Given the description of an element on the screen output the (x, y) to click on. 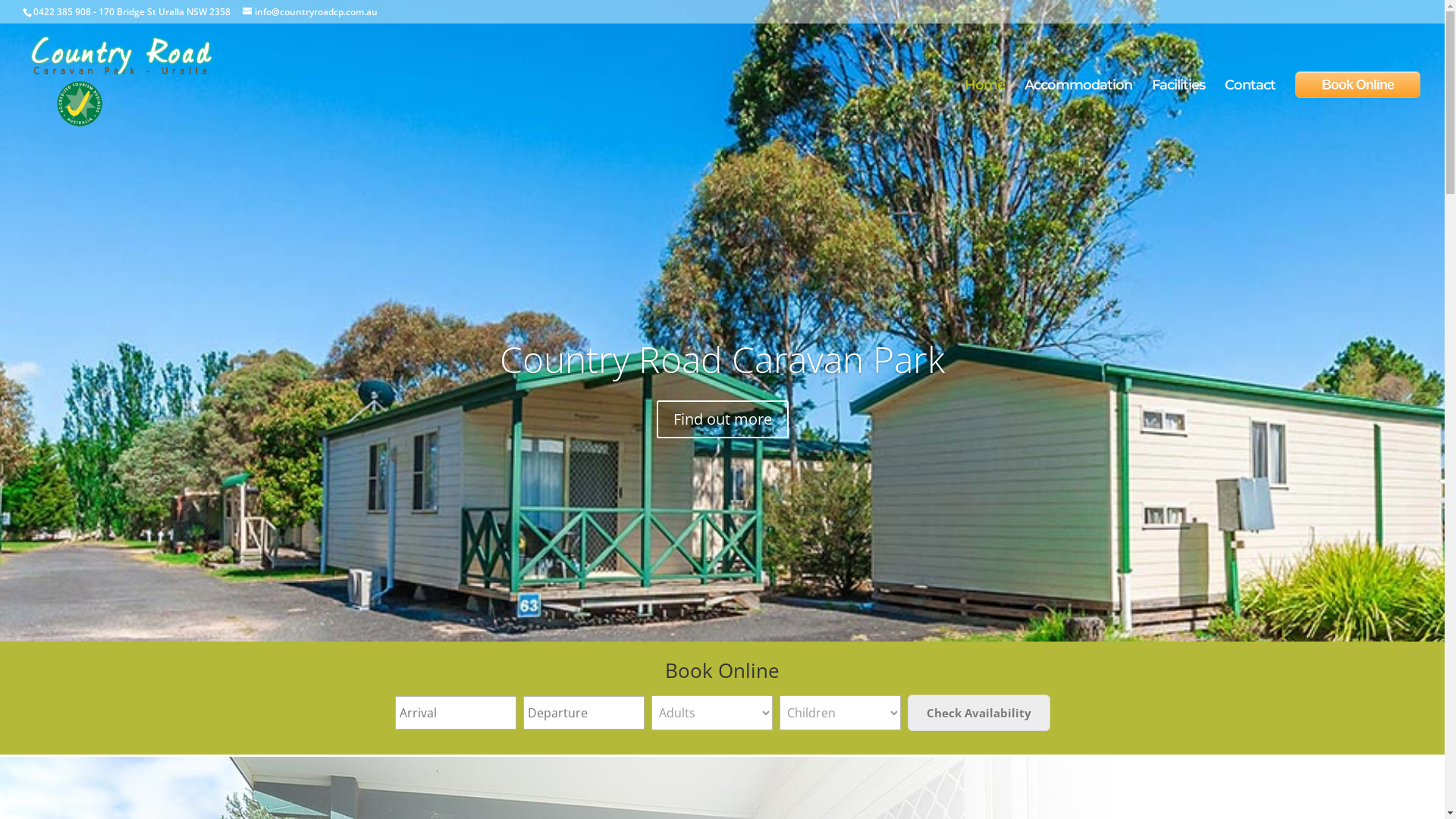
Home Element type: text (984, 108)
info@countryroadcp.com.au Element type: text (309, 11)
Book Online Element type: text (1357, 84)
Find out more Element type: text (722, 419)
Facilities Element type: text (1177, 108)
Accommodation Element type: text (1078, 108)
Contact Element type: text (1249, 108)
Check Availability Element type: text (977, 712)
0422 385 908 Element type: text (62, 11)
Country Road Caravan Park Element type: text (721, 358)
